Given the description of an element on the screen output the (x, y) to click on. 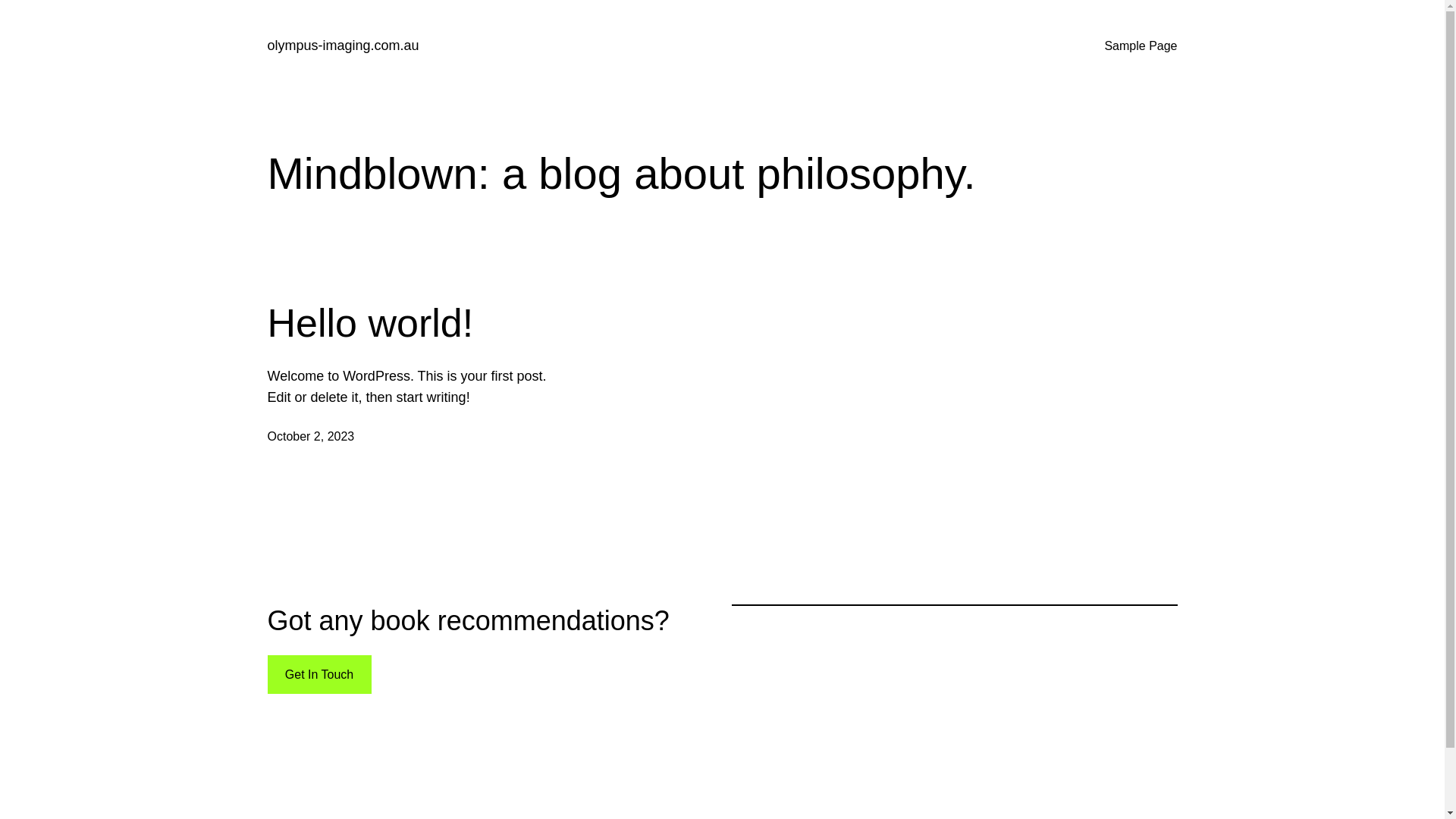
October 2, 2023 Element type: text (310, 435)
Hello world! Element type: text (369, 322)
olympus-imaging.com.au Element type: text (342, 45)
Get In Touch Element type: text (318, 674)
Sample Page Element type: text (1140, 46)
